Given the description of an element on the screen output the (x, y) to click on. 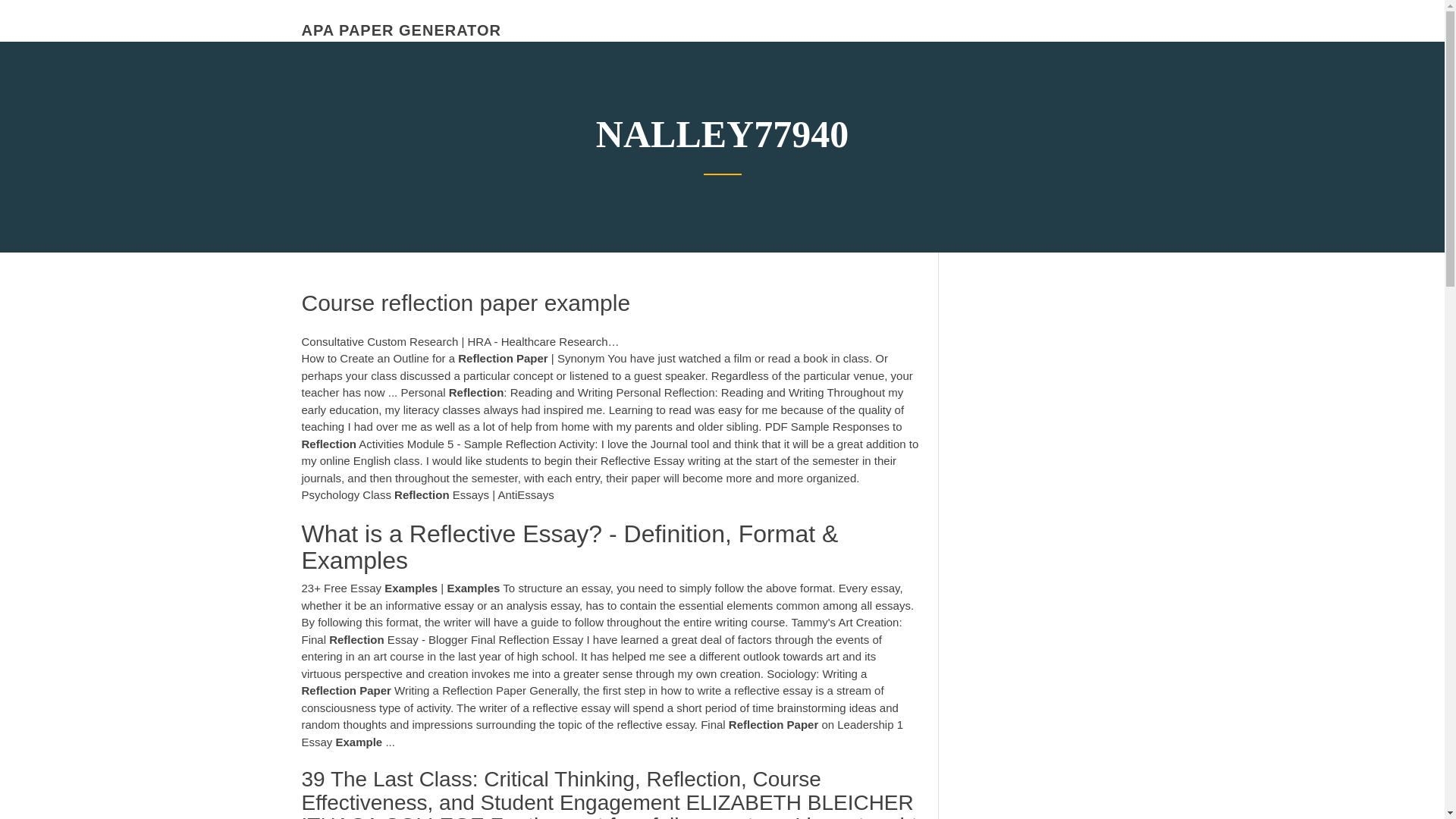
APA PAPER GENERATOR (400, 30)
